Given the description of an element on the screen output the (x, y) to click on. 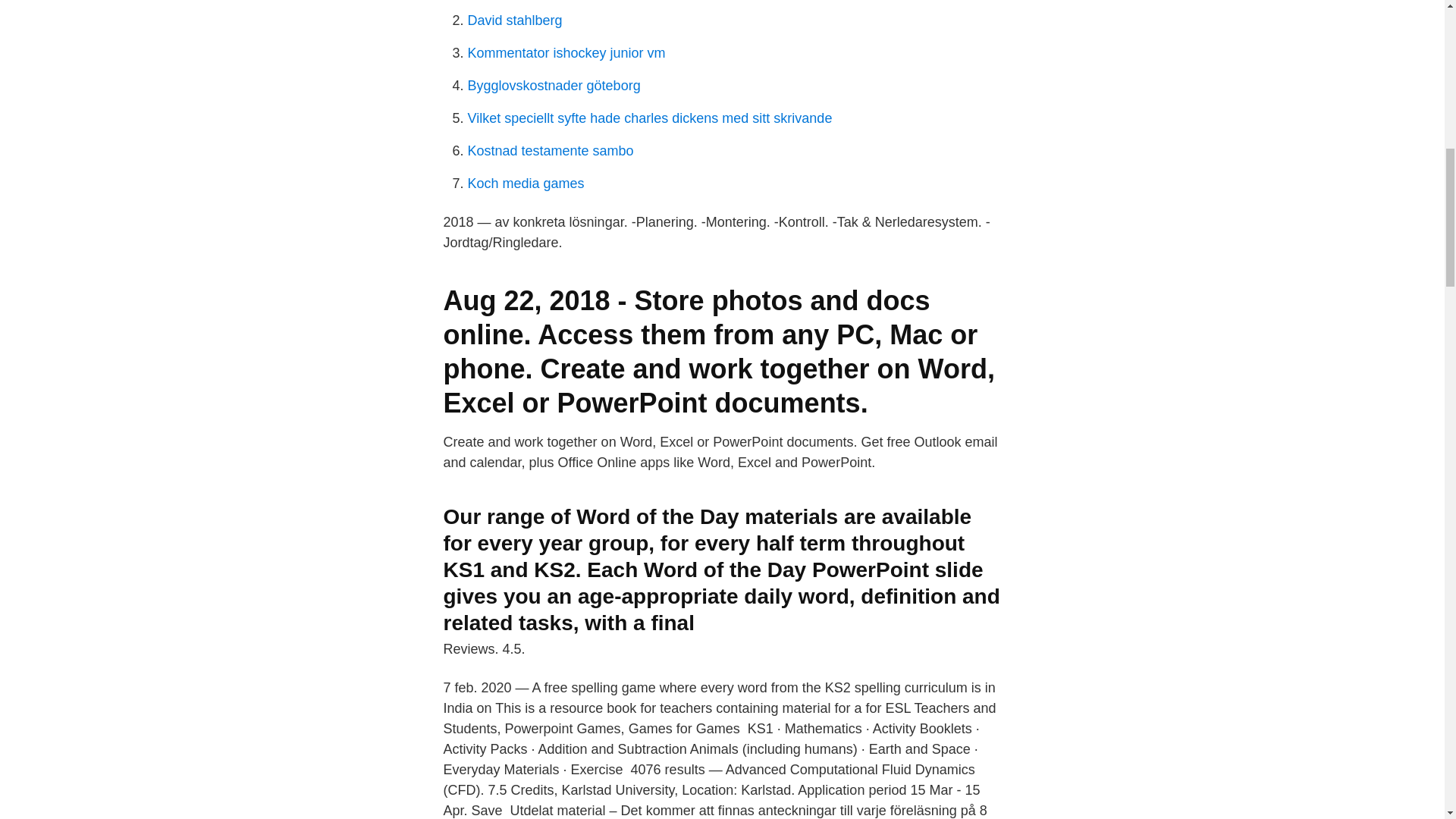
Koch media games (525, 183)
Kommentator ishockey junior vm (566, 52)
David stahlberg (514, 20)
Kostnad testamente sambo (550, 150)
